Given the description of an element on the screen output the (x, y) to click on. 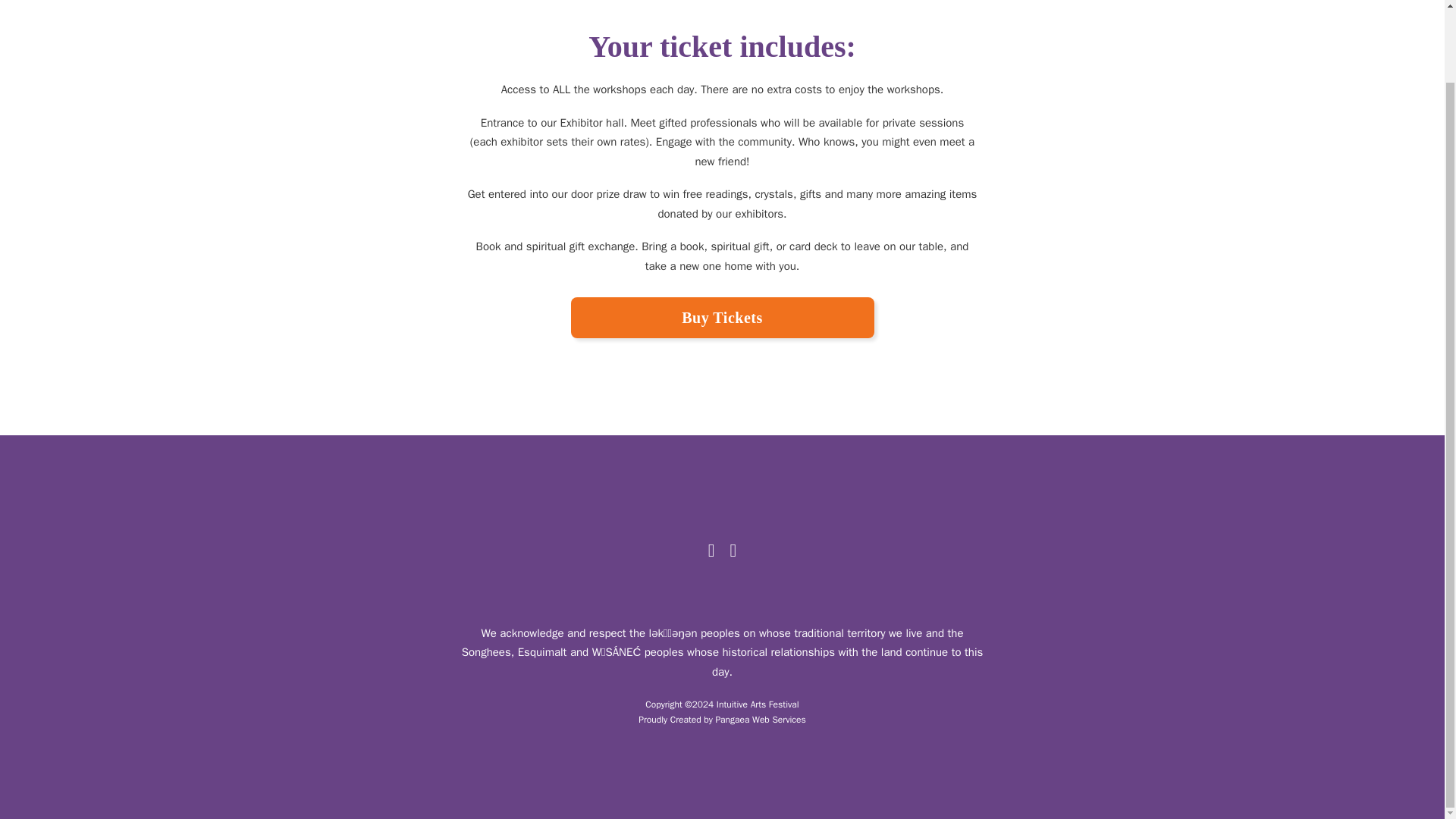
Pangaea Web Services (759, 719)
Buy Tickets (721, 317)
